Given the description of an element on the screen output the (x, y) to click on. 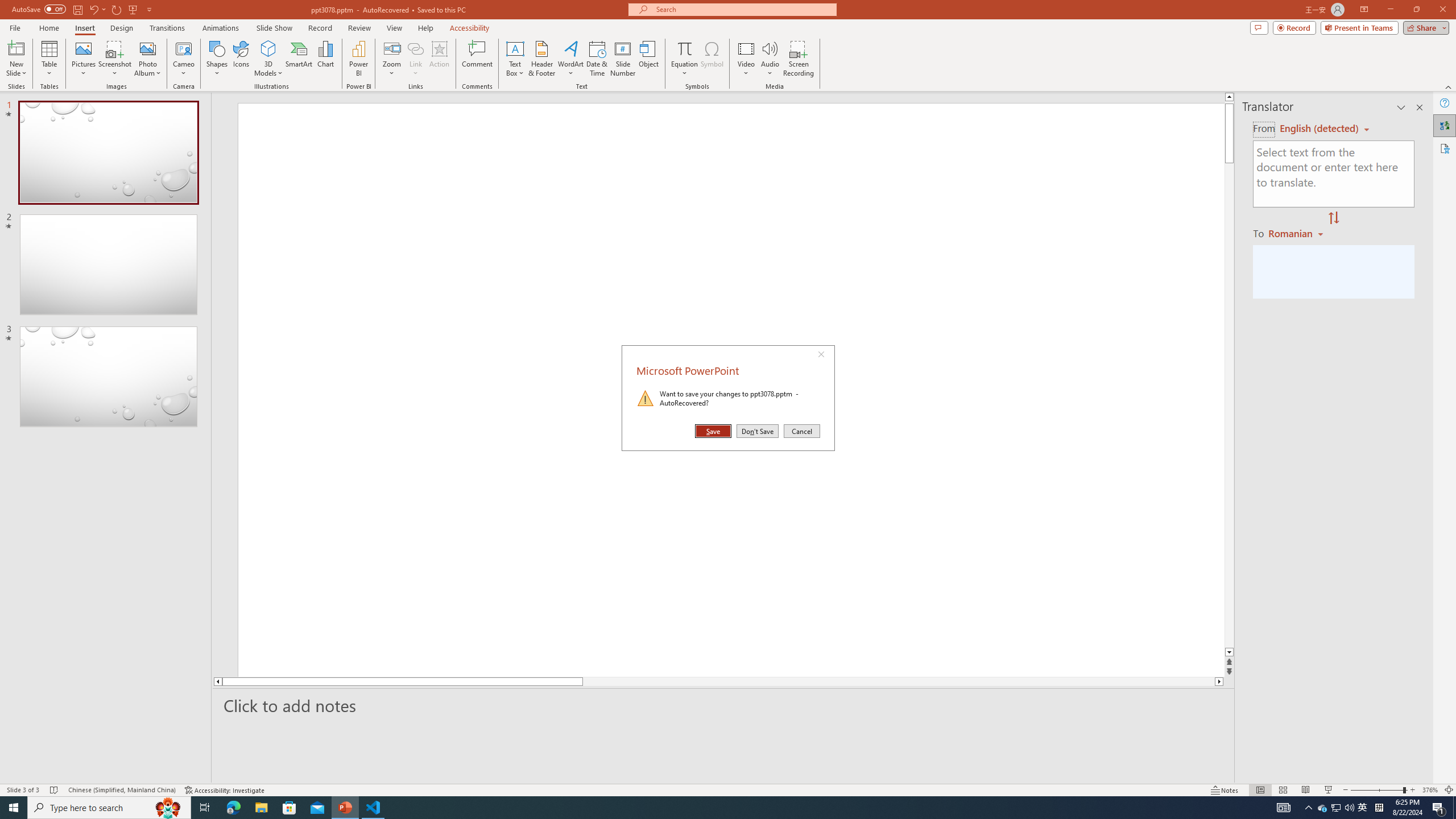
Slide Number (622, 58)
